Given the description of an element on the screen output the (x, y) to click on. 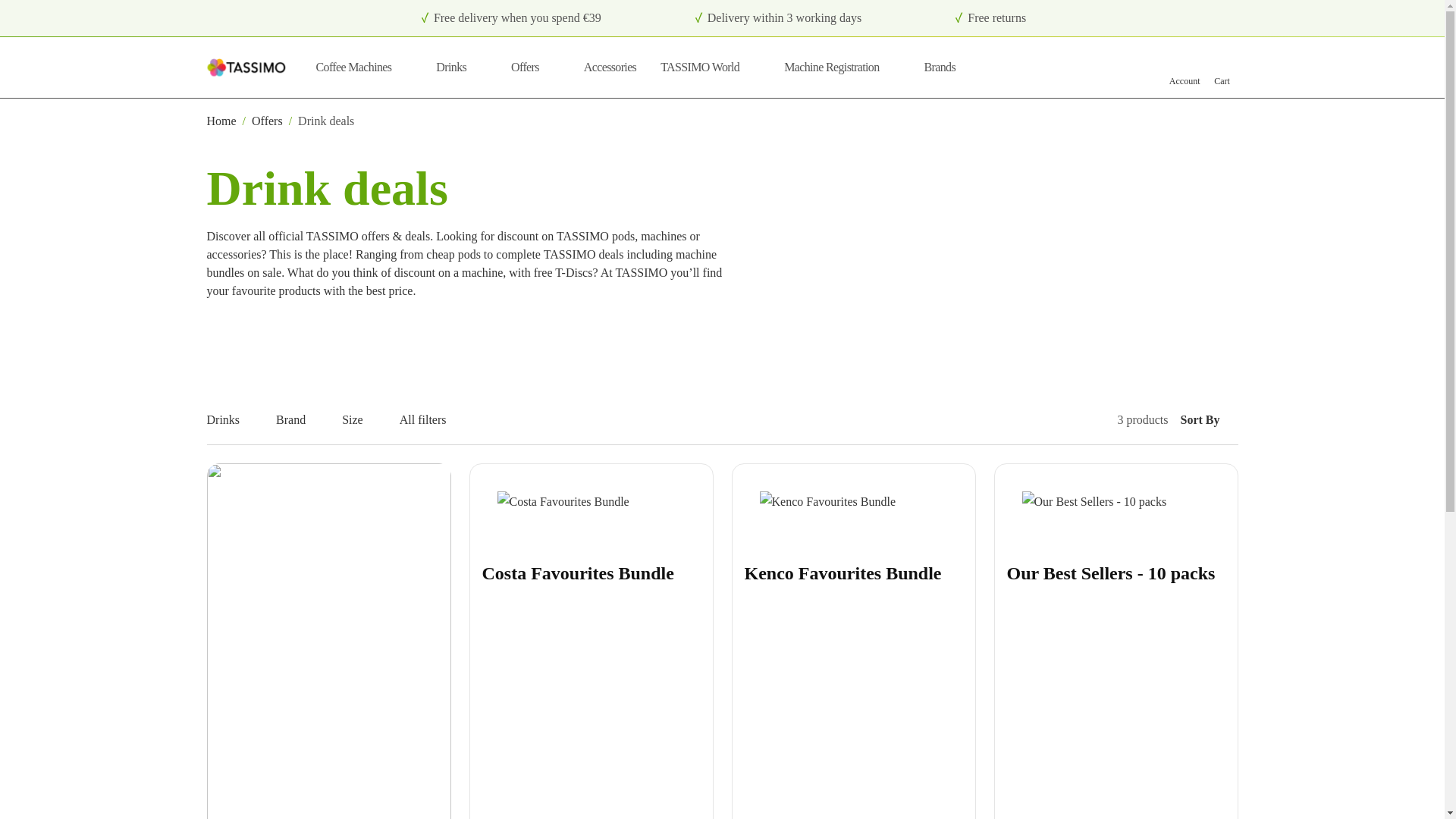
Drinks (231, 419)
Coffee Machines (363, 67)
All filters (431, 419)
Home (220, 120)
Brand (335, 419)
Offers (299, 419)
TASSIMO World (535, 67)
Size (710, 67)
